Given the description of an element on the screen output the (x, y) to click on. 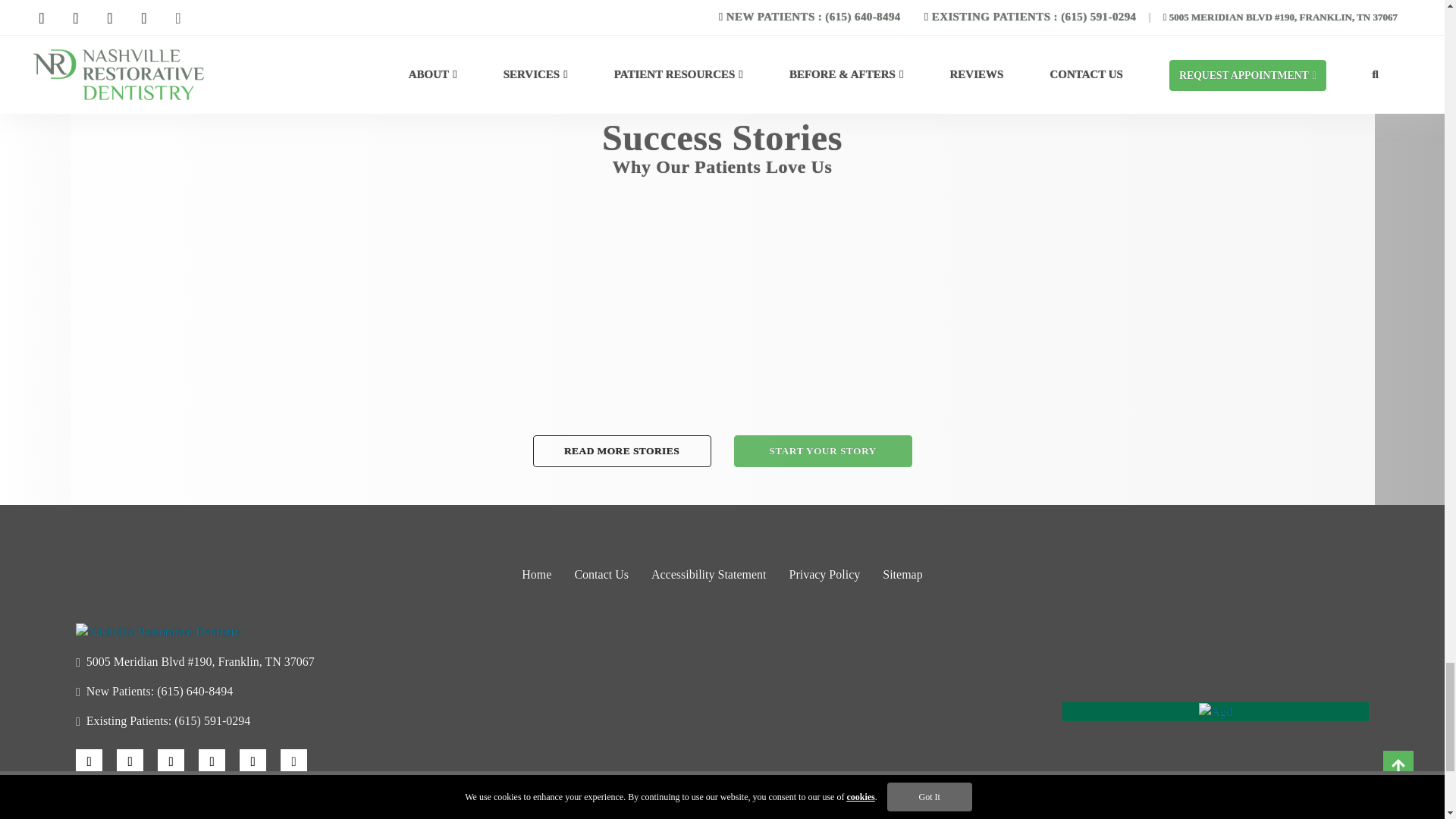
Office Map and Directions (722, 720)
Opens in New Window (228, 661)
